Given the description of an element on the screen output the (x, y) to click on. 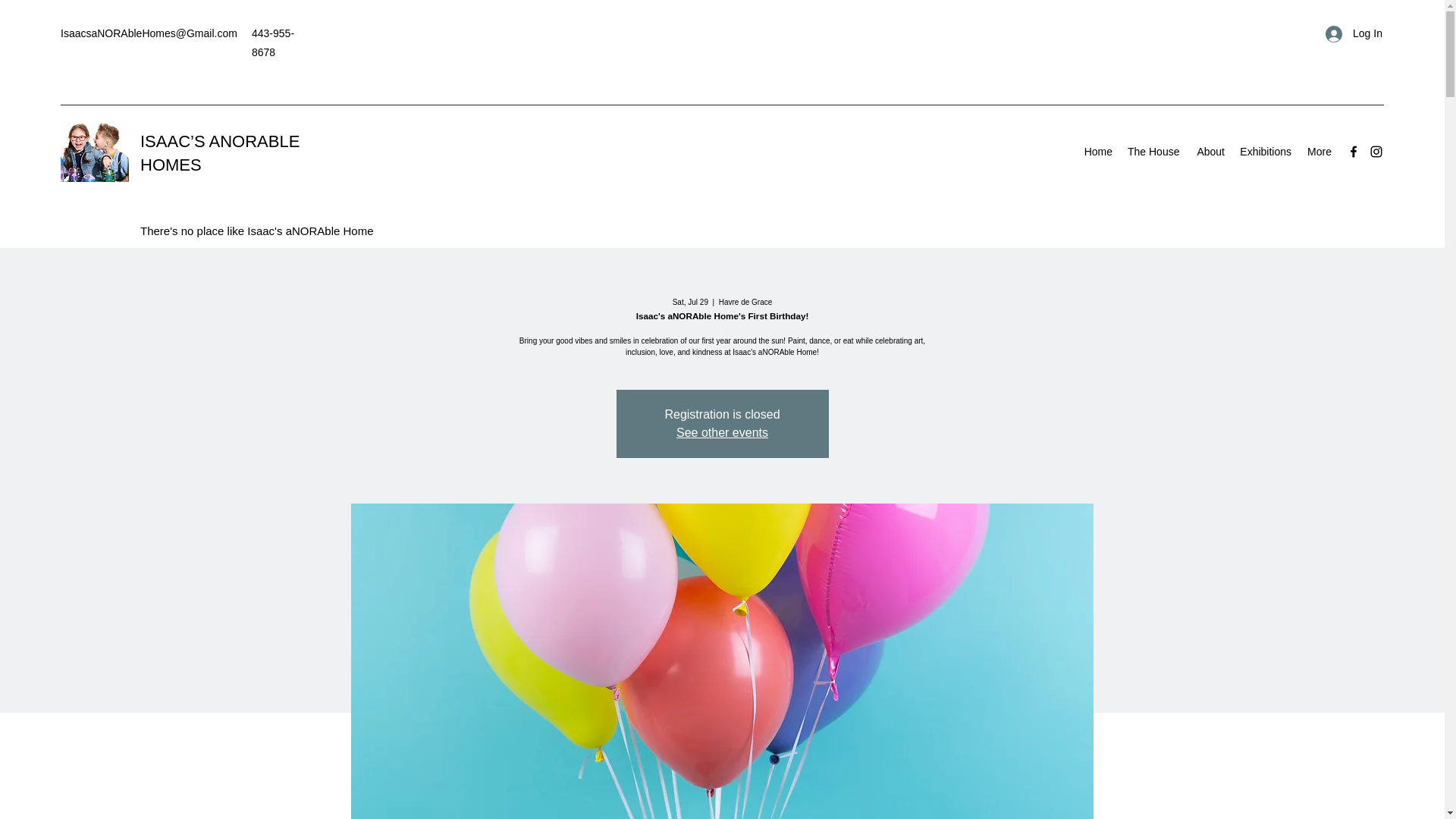
See other events (722, 431)
Log In (1348, 33)
Home (1097, 151)
Exhibitions (1264, 151)
The House (1152, 151)
About (1208, 151)
